Given the description of an element on the screen output the (x, y) to click on. 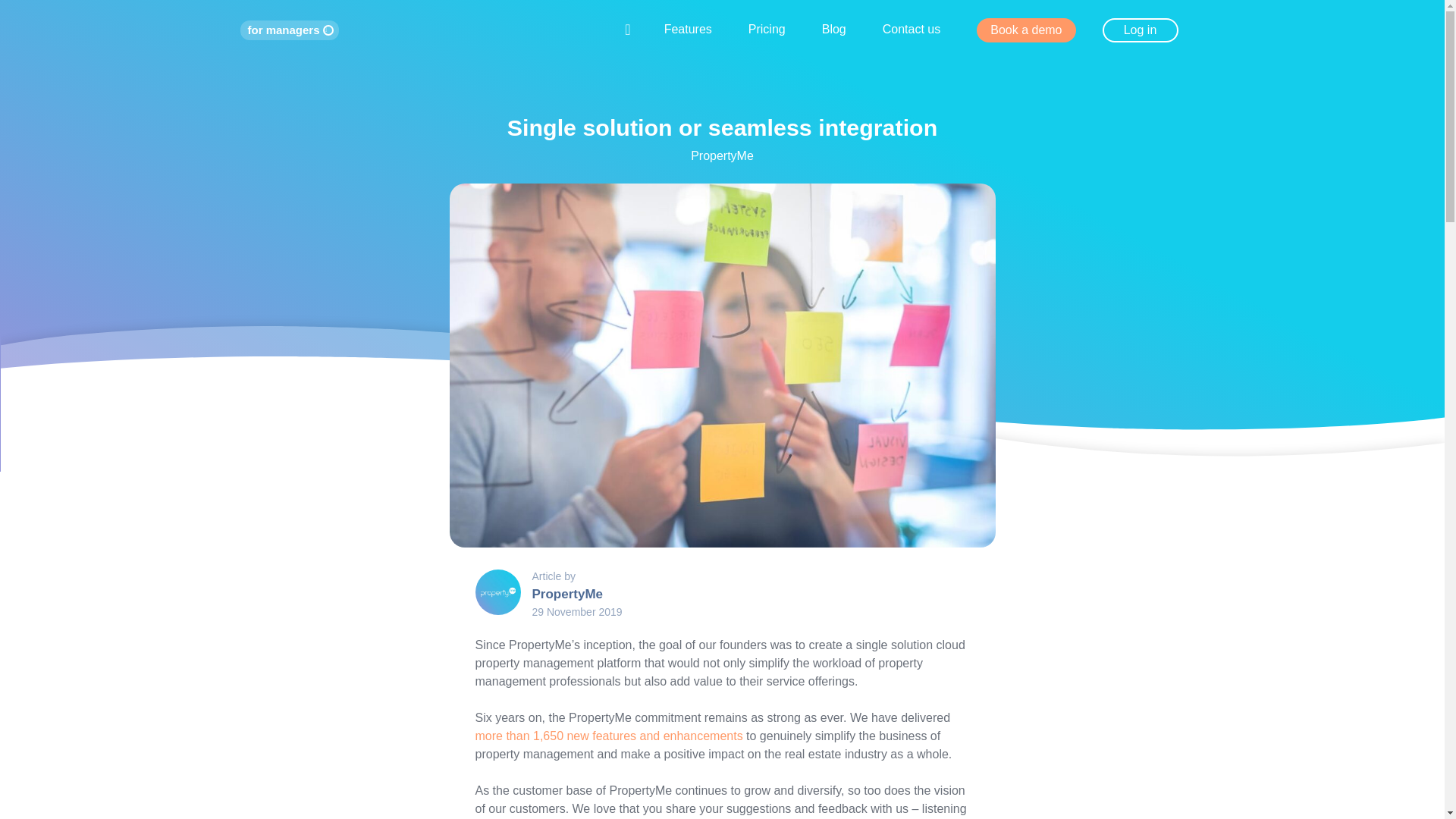
PropertyMe (568, 594)
Features (687, 29)
more than 1,650 new features and enhancements (608, 735)
Book a demo (1025, 30)
Pricing (767, 29)
Blog (833, 29)
Contact us (911, 29)
Log in (1139, 30)
